Given the description of an element on the screen output the (x, y) to click on. 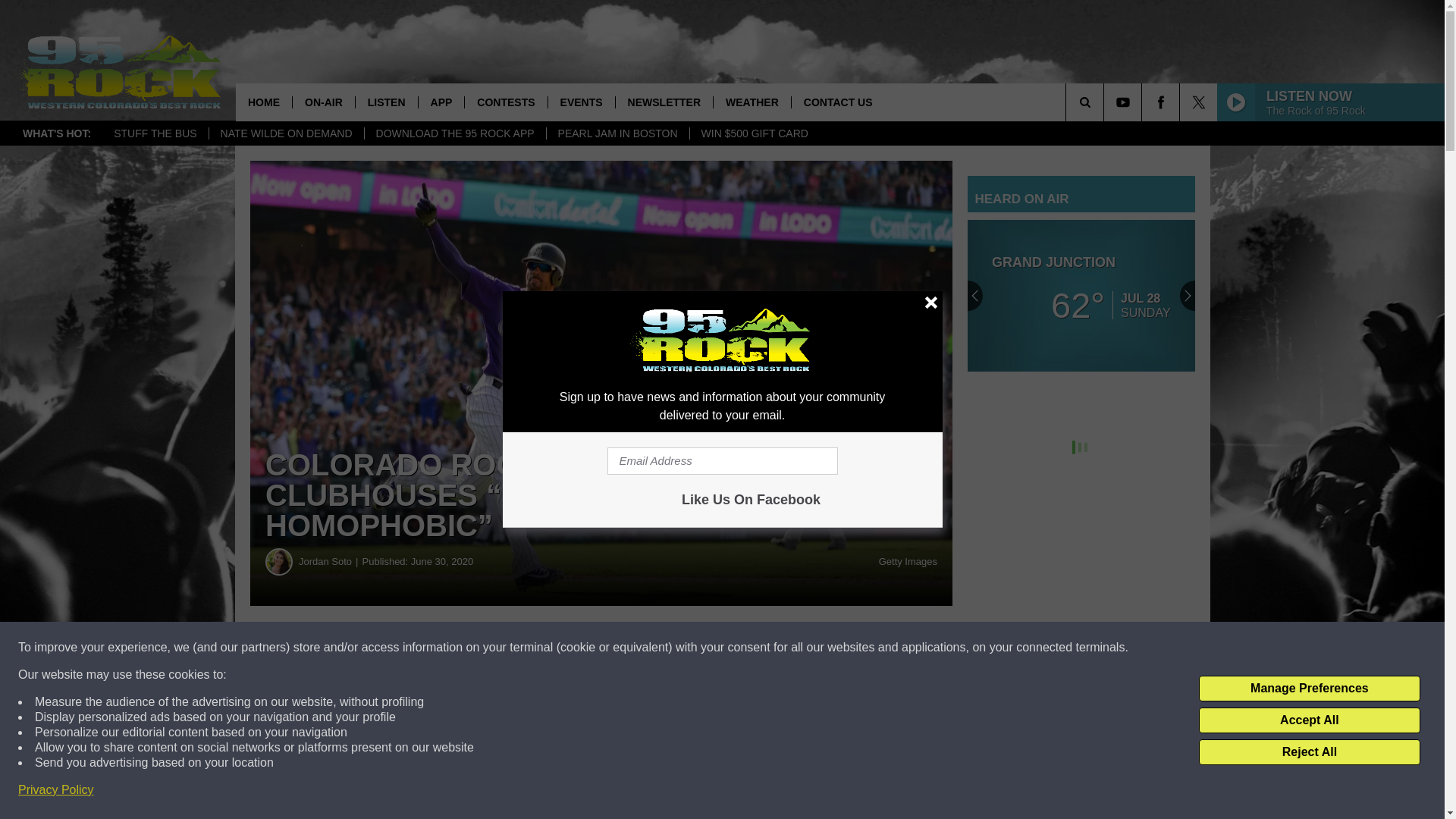
APP (440, 102)
Accept All (1309, 720)
Reject All (1309, 751)
SEARCH (1106, 102)
STUFF THE BUS (154, 133)
Manage Preferences (1309, 688)
ON-AIR (323, 102)
Grand Junction Weather (1081, 295)
DOWNLOAD THE 95 ROCK APP (455, 133)
Email Address (722, 461)
Share on Twitter (741, 647)
HOME (263, 102)
WHAT'S HOT: (56, 133)
Share on Facebook (460, 647)
NATE WILDE ON DEMAND (286, 133)
